Given the description of an element on the screen output the (x, y) to click on. 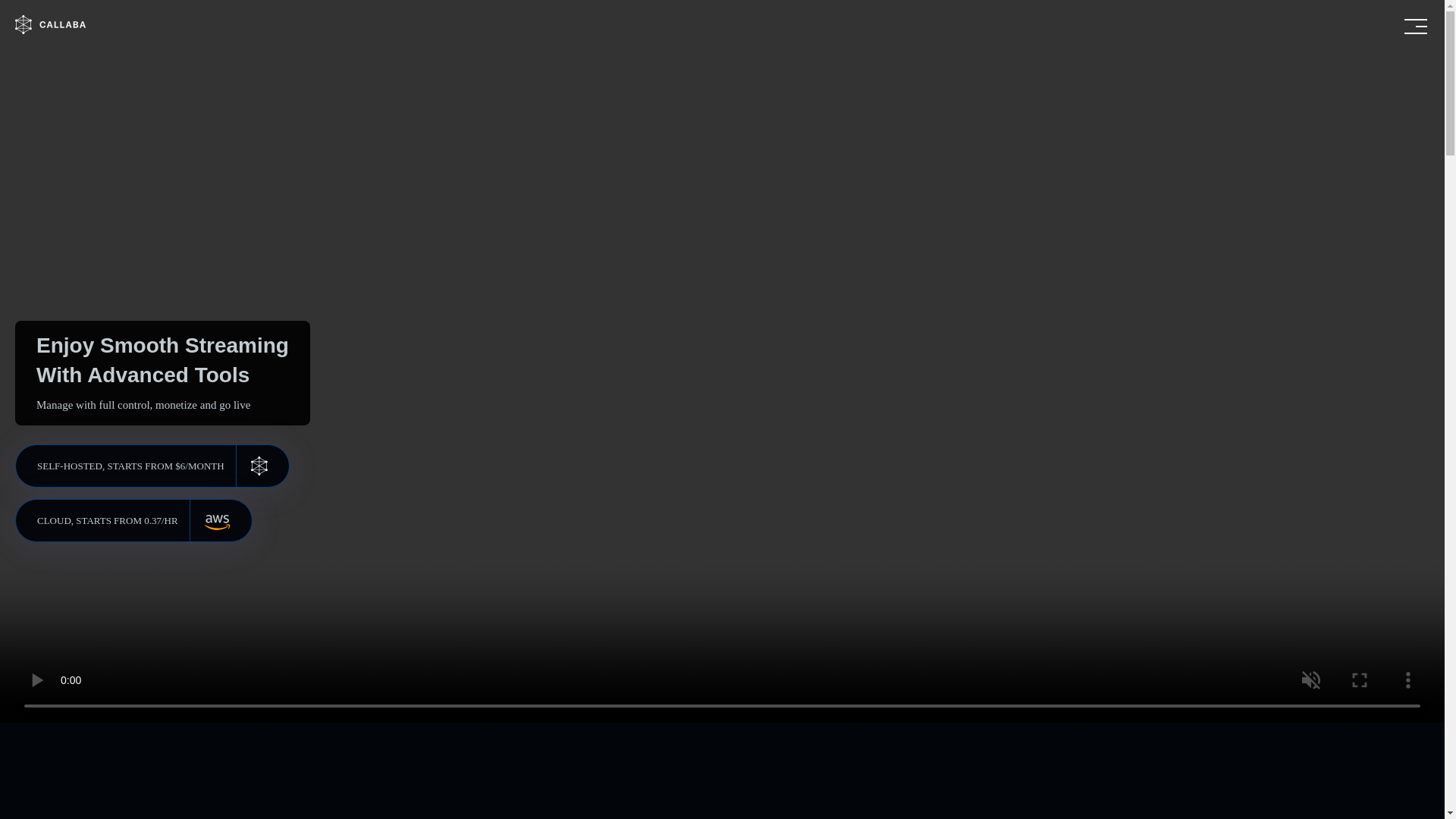
Open Menu (1415, 26)
